Given the description of an element on the screen output the (x, y) to click on. 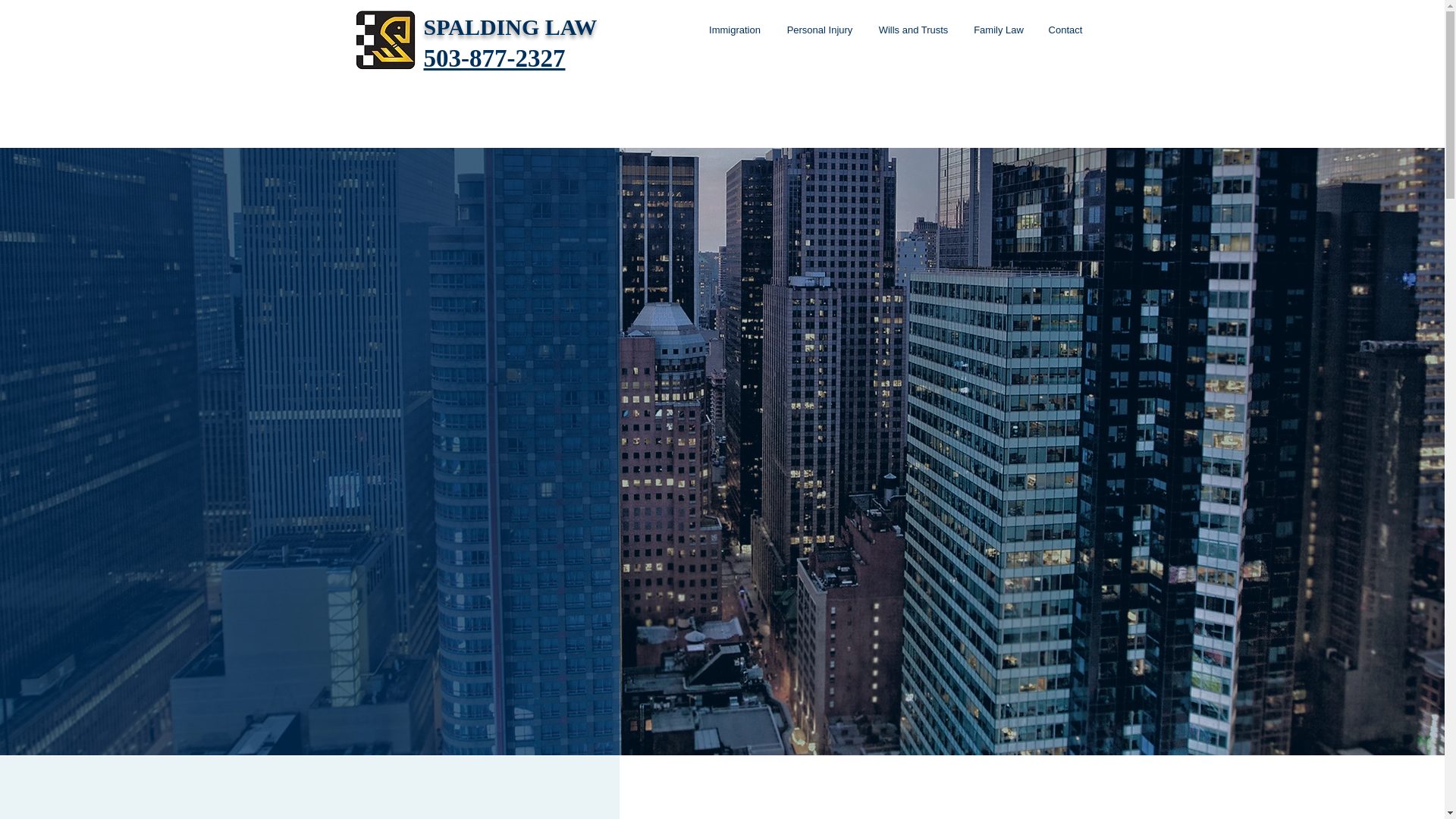
logo - Copy.png (384, 39)
503-877-2327 (493, 58)
Contact (1064, 29)
Personal Injury (818, 29)
Family Law (998, 29)
Wills and Trusts (913, 29)
Immigration (734, 29)
